Given the description of an element on the screen output the (x, y) to click on. 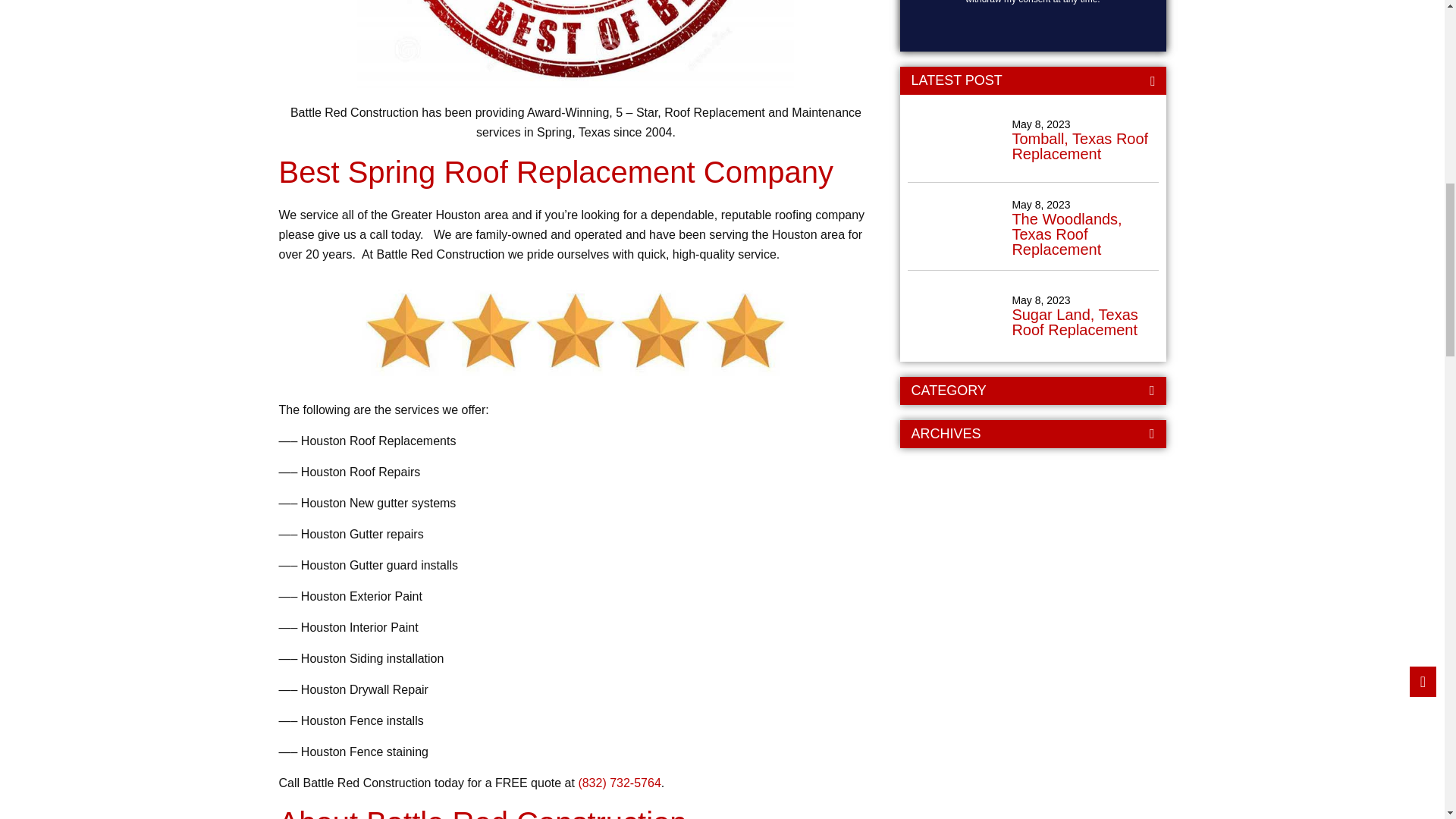
Thewoodlands (959, 228)
Top Rated Stamp (574, 51)
Tomball (959, 140)
5stars (574, 338)
Sugarland (959, 315)
